Given the description of an element on the screen output the (x, y) to click on. 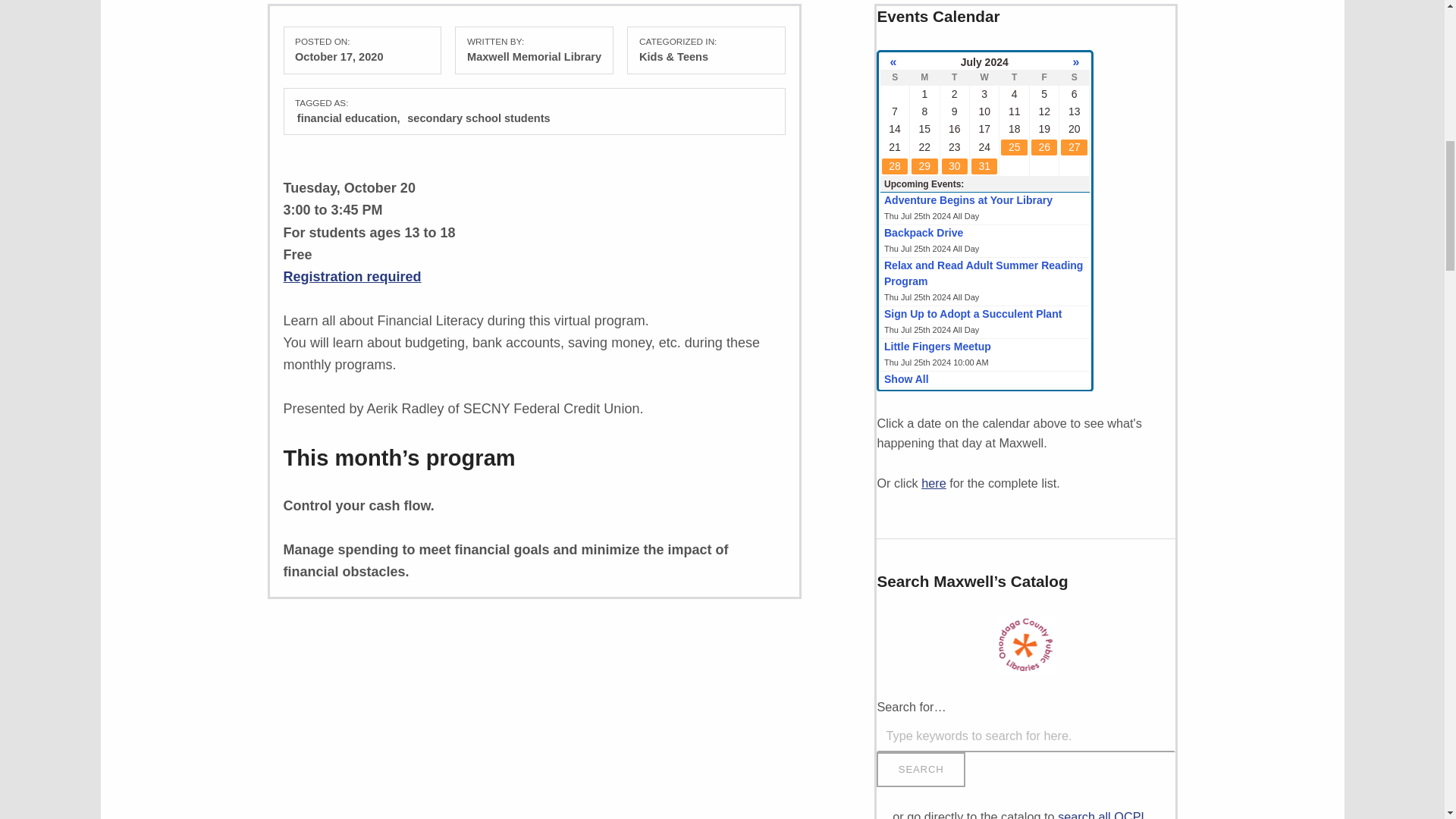
Posted on: October 17, 2020 (338, 56)
